Given the description of an element on the screen output the (x, y) to click on. 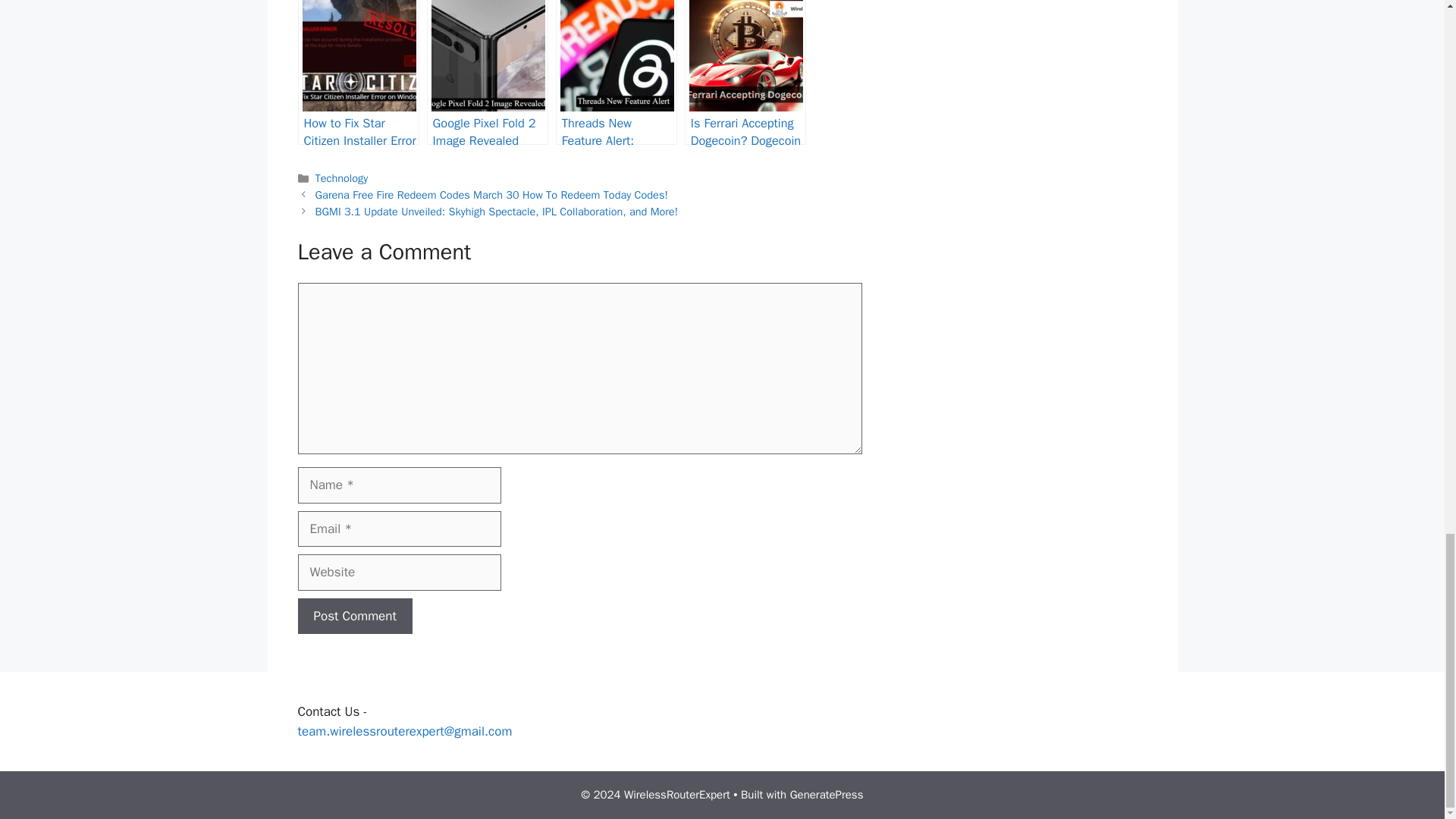
Post Comment (354, 616)
Post Comment (354, 616)
Technology (341, 178)
